Given the description of an element on the screen output the (x, y) to click on. 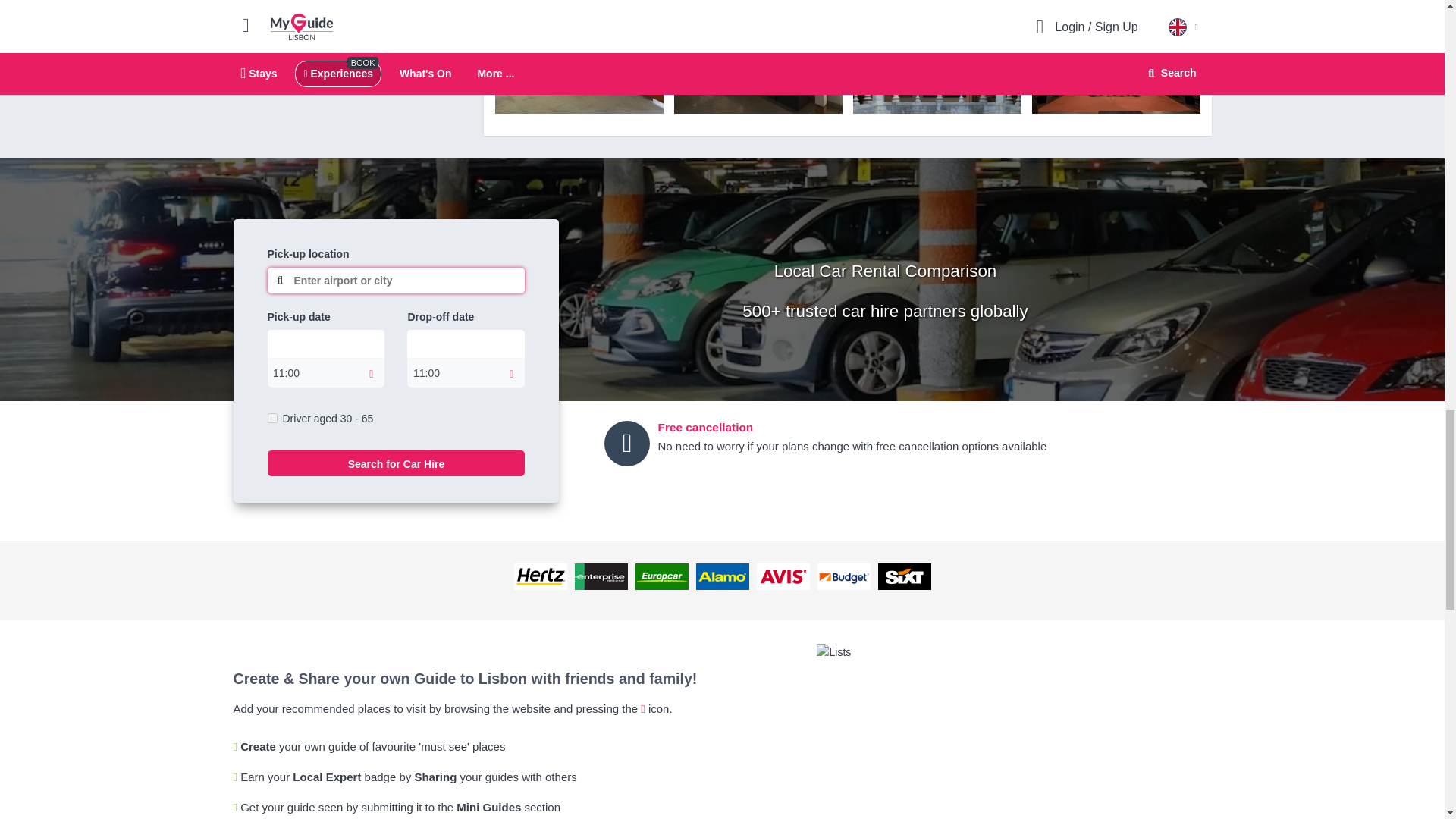
Lisbon: National Tile Museum Entry Ticket (578, 56)
on (271, 418)
Lisbon: National Tile Museum Entry Ticket (1114, 56)
Lisbon: National Tile Museum Entry Ticket (756, 56)
Lisbon: National Tile Museum Entry Ticket (935, 56)
